Given the description of an element on the screen output the (x, y) to click on. 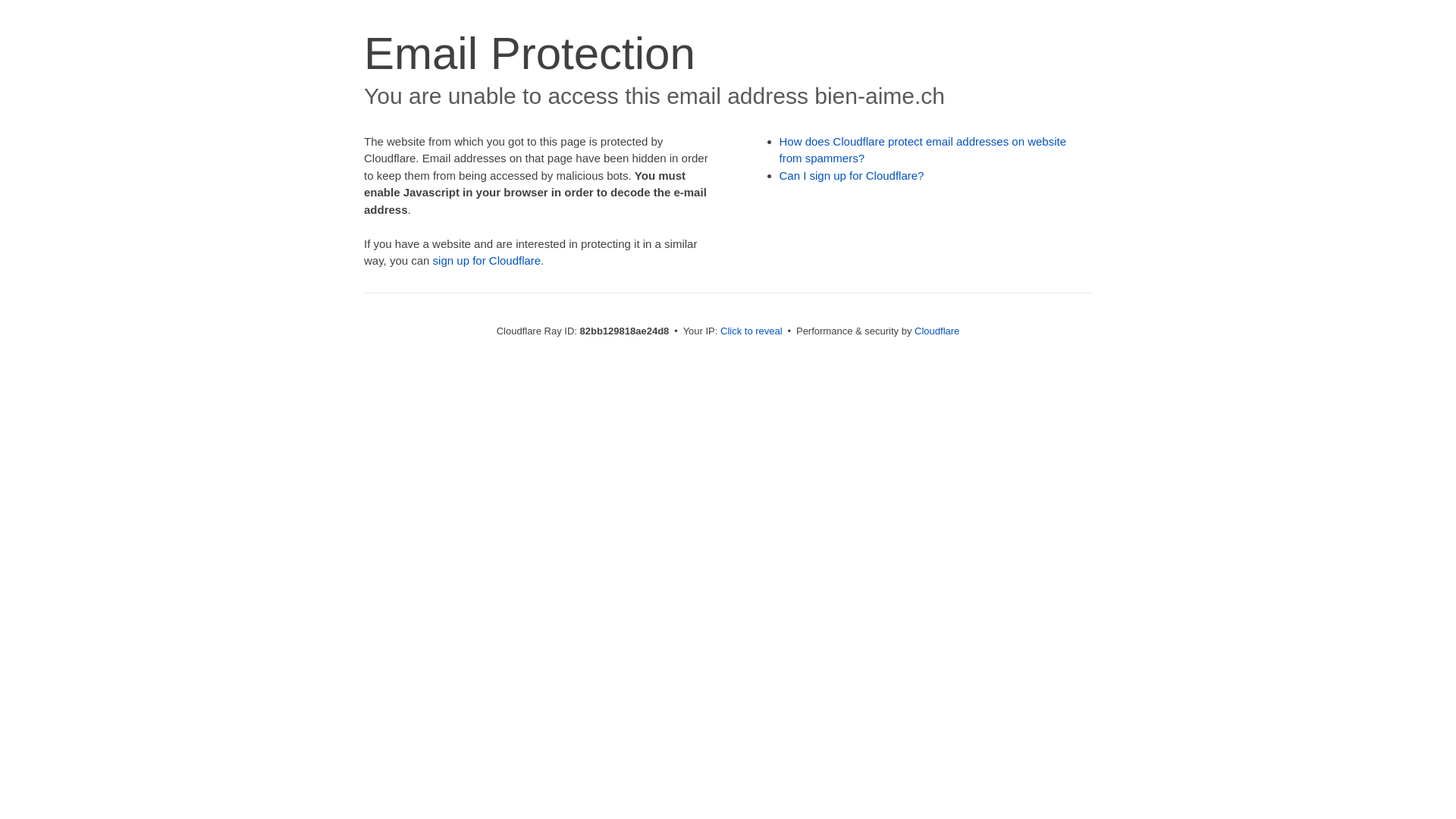
Click to reveal Element type: text (751, 330)
Can I sign up for Cloudflare? Element type: text (851, 175)
Cloudflare Element type: text (936, 330)
sign up for Cloudflare Element type: text (487, 260)
